Given the description of an element on the screen output the (x, y) to click on. 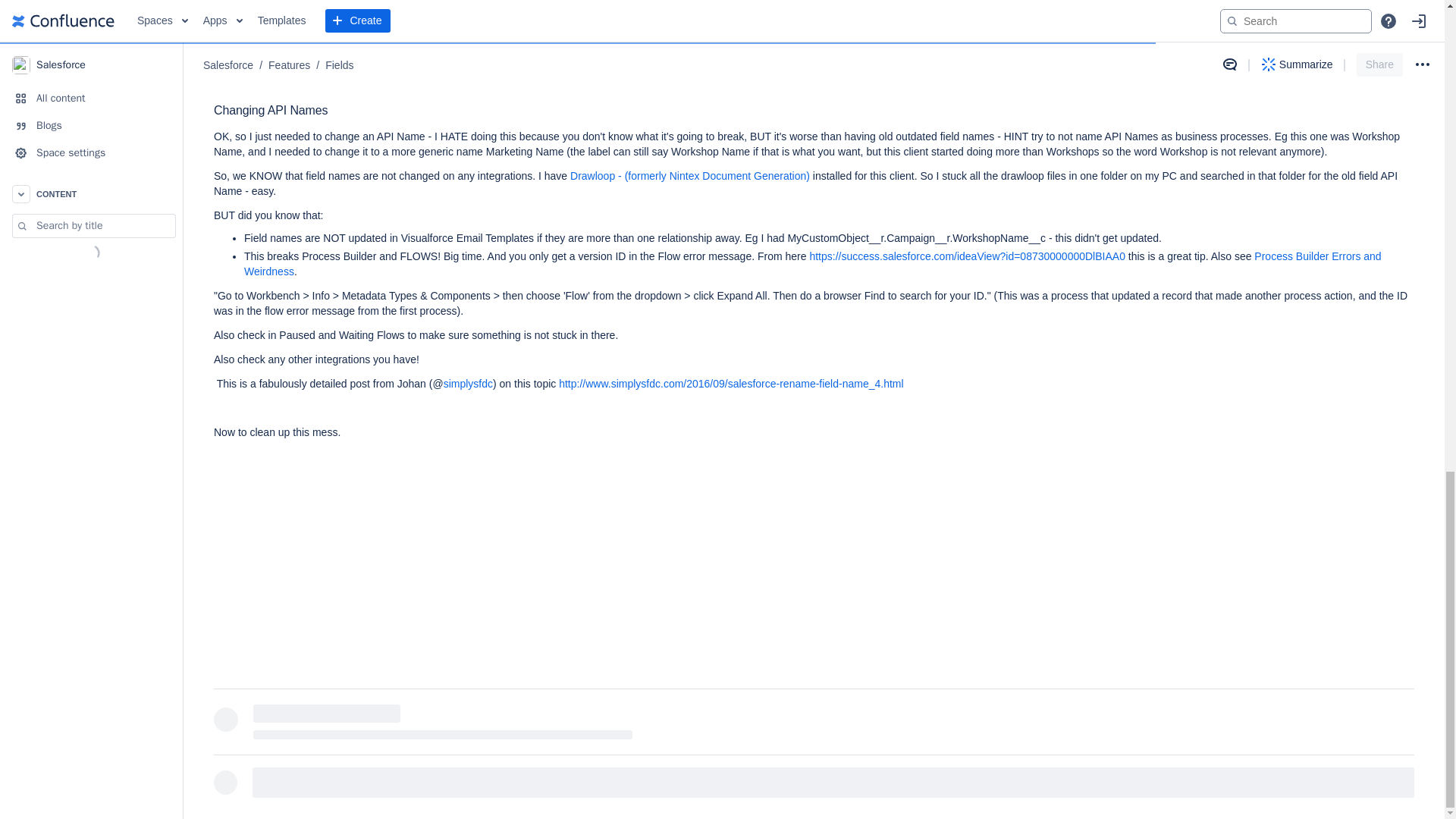
Process Builder Errors and Weirdness (812, 263)
MavensMate and Git for Non Developers (532, 72)
simplysfdc (468, 383)
